Given the description of an element on the screen output the (x, y) to click on. 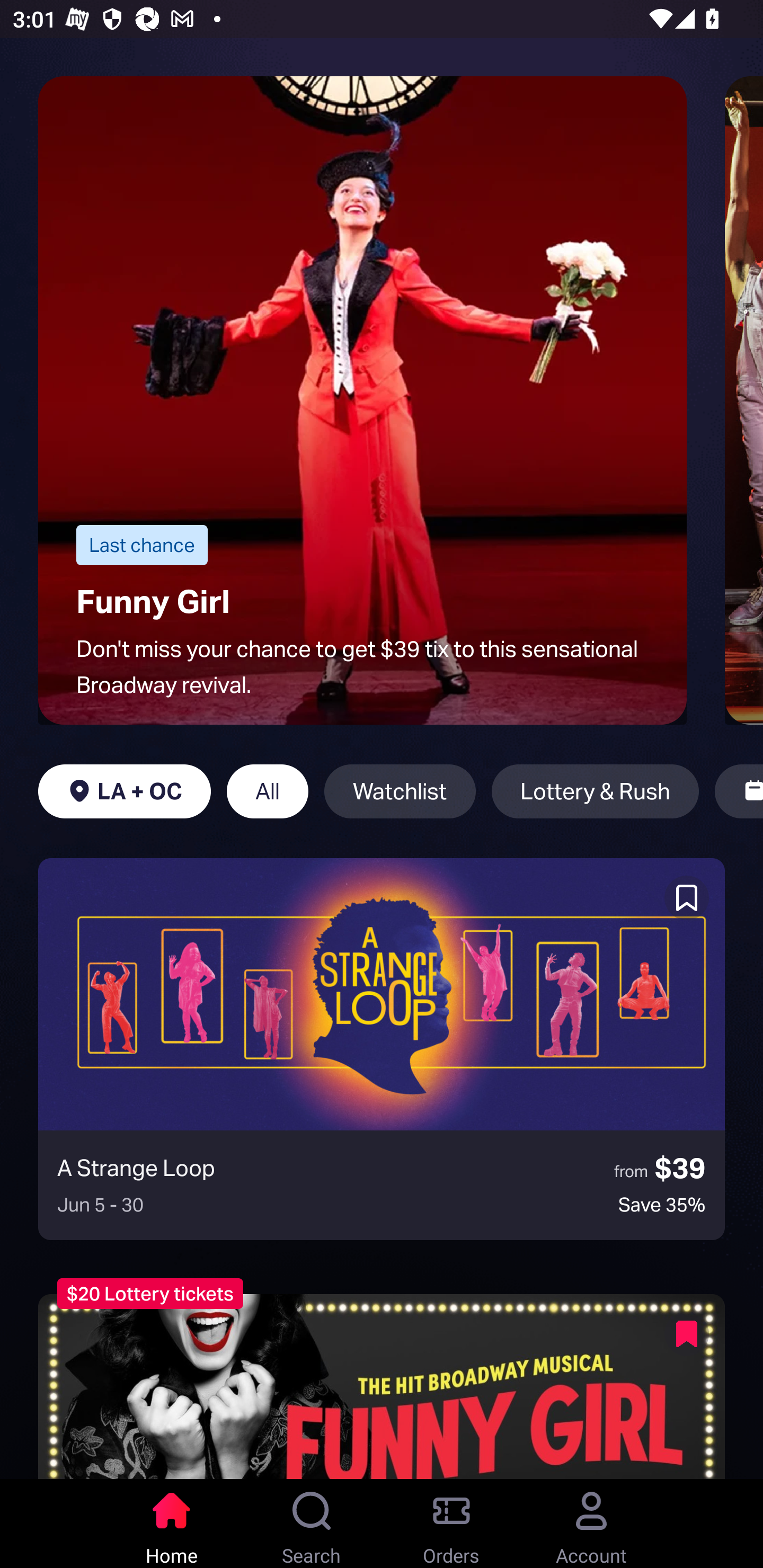
LA + OC (124, 791)
All (267, 791)
Watchlist (400, 791)
Lottery & Rush (594, 791)
A Strange Loop from $39 Jun 5 - 30 Save 35% (381, 1048)
Search (311, 1523)
Orders (451, 1523)
Account (591, 1523)
